Given the description of an element on the screen output the (x, y) to click on. 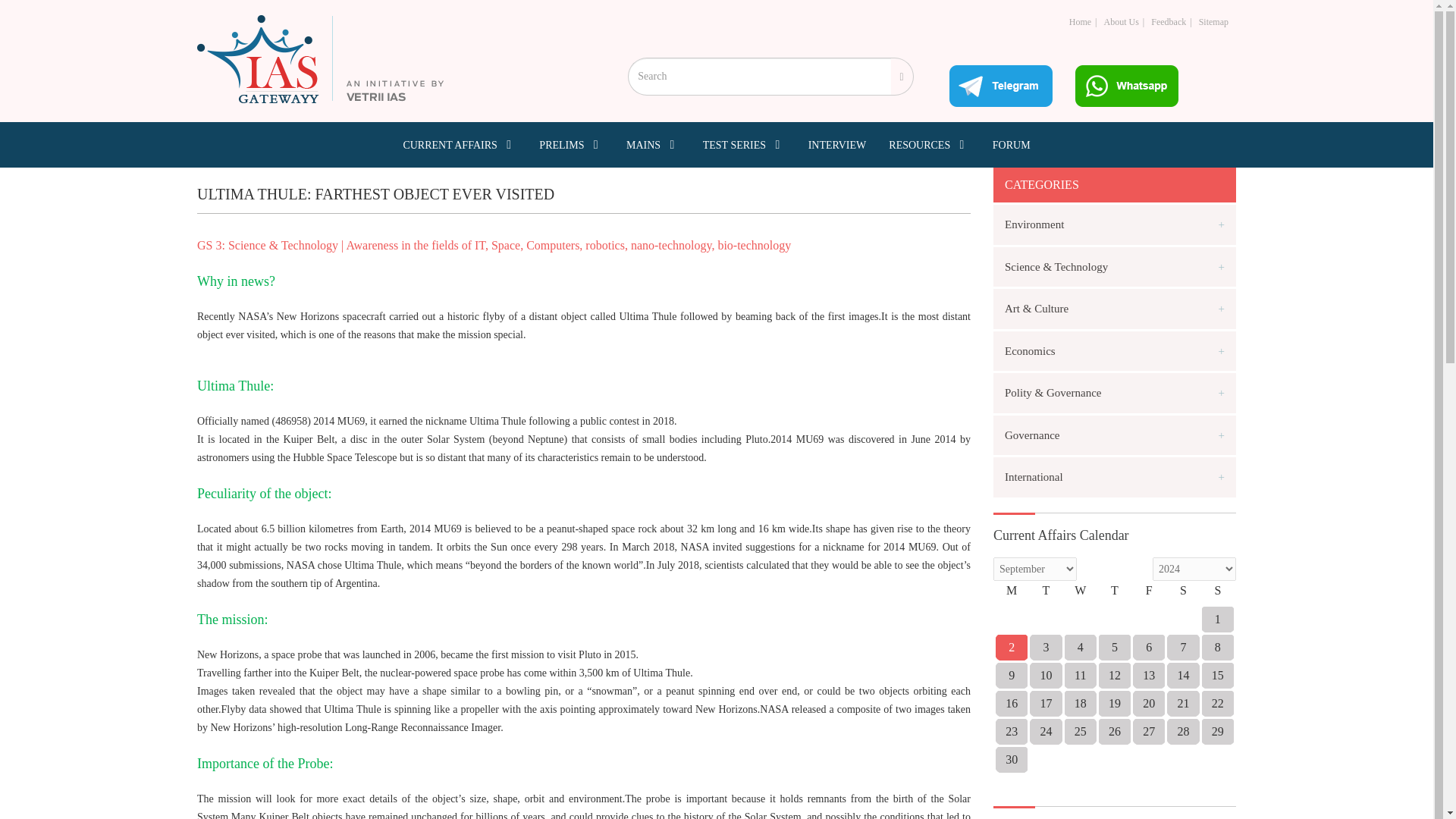
TEST SERIES (744, 144)
Monday (1011, 594)
PRELIMS (571, 144)
Governance (1114, 435)
MAINS (652, 144)
Environment (1114, 224)
About Us (1120, 21)
Wednesday (1079, 594)
Saturday (1182, 594)
Sitemap (1213, 21)
